Given the description of an element on the screen output the (x, y) to click on. 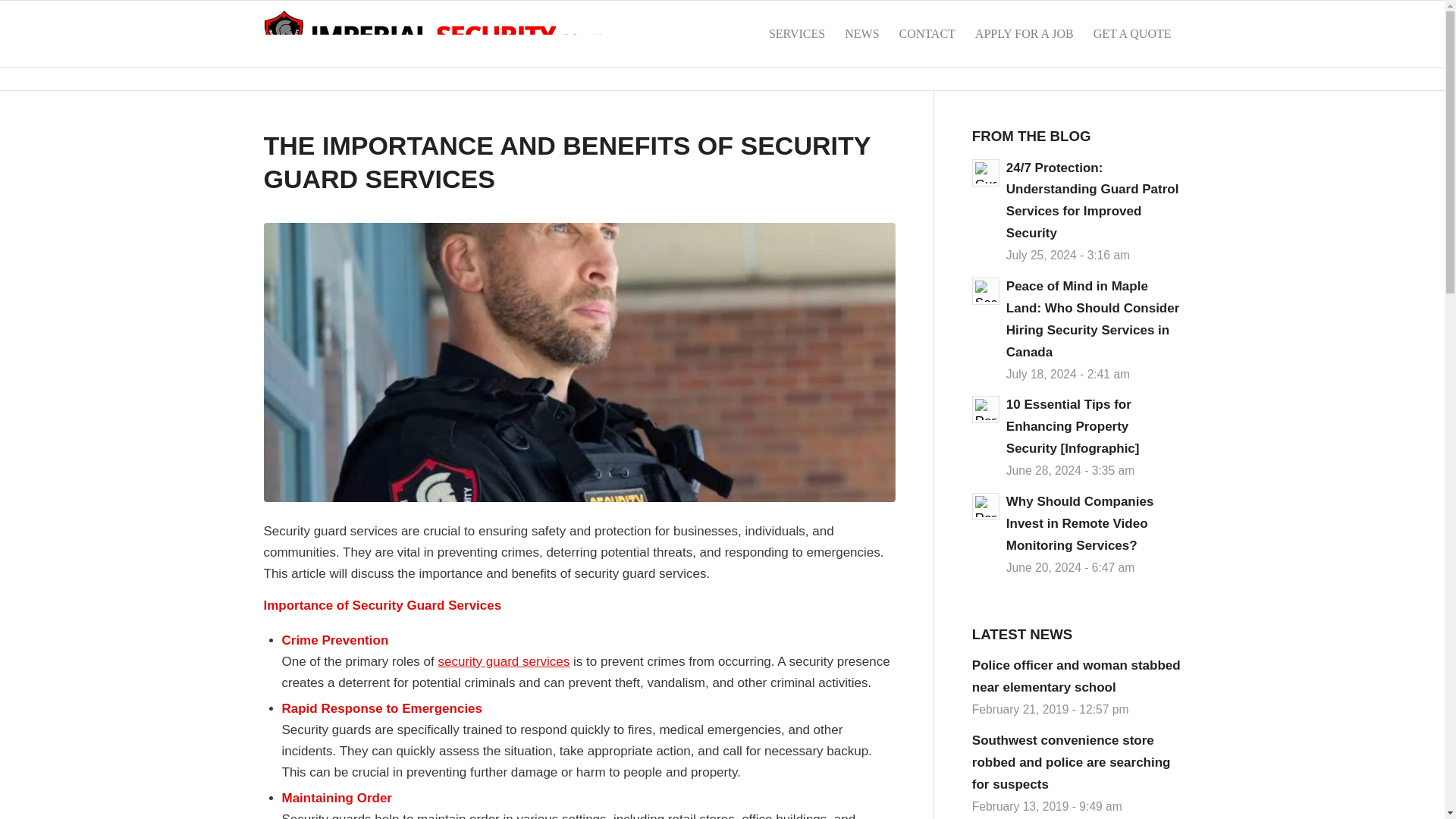
GET A QUOTE (1131, 33)
CONTACT (927, 33)
Imperial-Security (450, 33)
security guard services (503, 661)
SERVICES (796, 33)
APPLY FOR A JOB (1024, 33)
THE IMPORTANCE AND BENEFITS OF SECURITY GUARD SERVICES (566, 162)
